Given the description of an element on the screen output the (x, y) to click on. 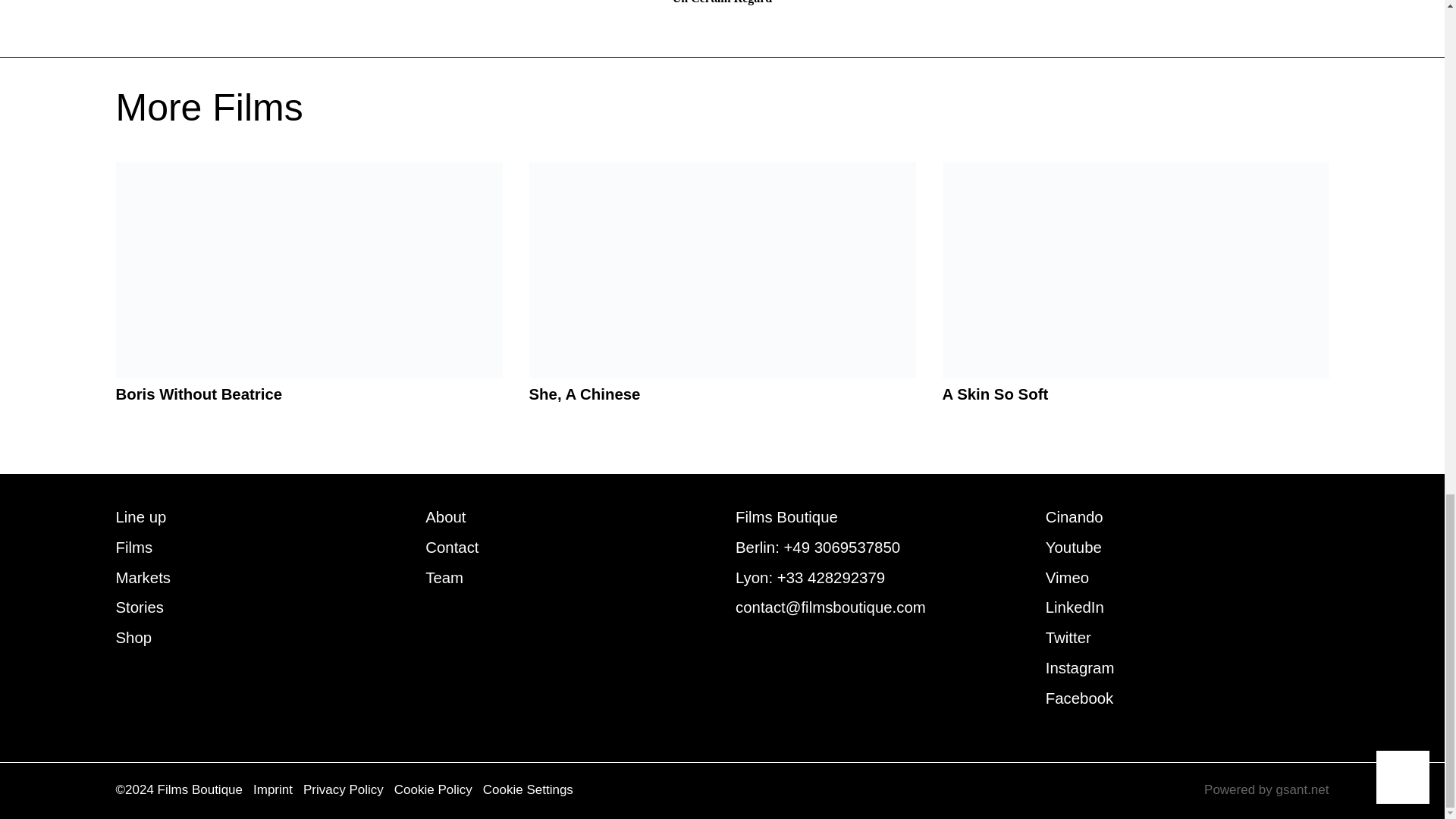
Team (444, 577)
Shop (133, 637)
Vimeo (1067, 577)
Twitter (1067, 637)
Youtube (1073, 547)
Films (133, 547)
LinkedIn (1074, 606)
About (445, 516)
Cinando (1074, 516)
Stories (139, 606)
Markets (142, 577)
Line up (140, 516)
Contact (452, 547)
